Given the description of an element on the screen output the (x, y) to click on. 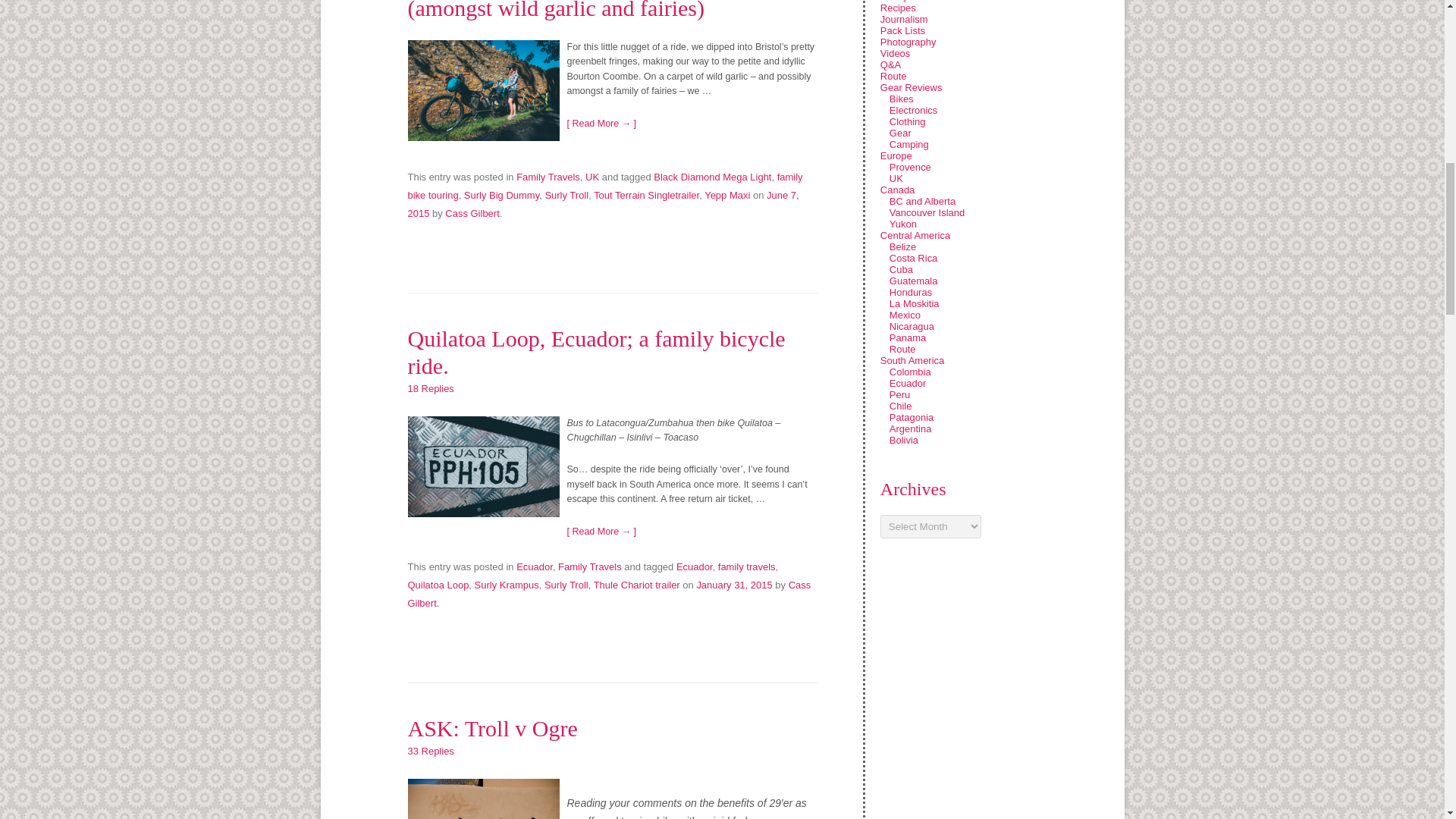
8:29 pm (603, 204)
Permalink to ASK: Troll v Ogre (492, 728)
Black Diamond Mega Light (712, 176)
June 7, 2015 (603, 204)
Yepp Maxi (726, 194)
family bike touring (605, 185)
Family Travels (547, 176)
Surly Big Dummy (501, 194)
View all posts by Cass Gilbert (608, 594)
Tout Terrain Singletrailer (646, 194)
Surly Troll (566, 194)
5:03 pm (733, 584)
UK (591, 176)
Permalink to Quilatoa Loop, Ecuador; a family bicycle ride. (596, 351)
View all posts by Cass Gilbert (472, 213)
